Given the description of an element on the screen output the (x, y) to click on. 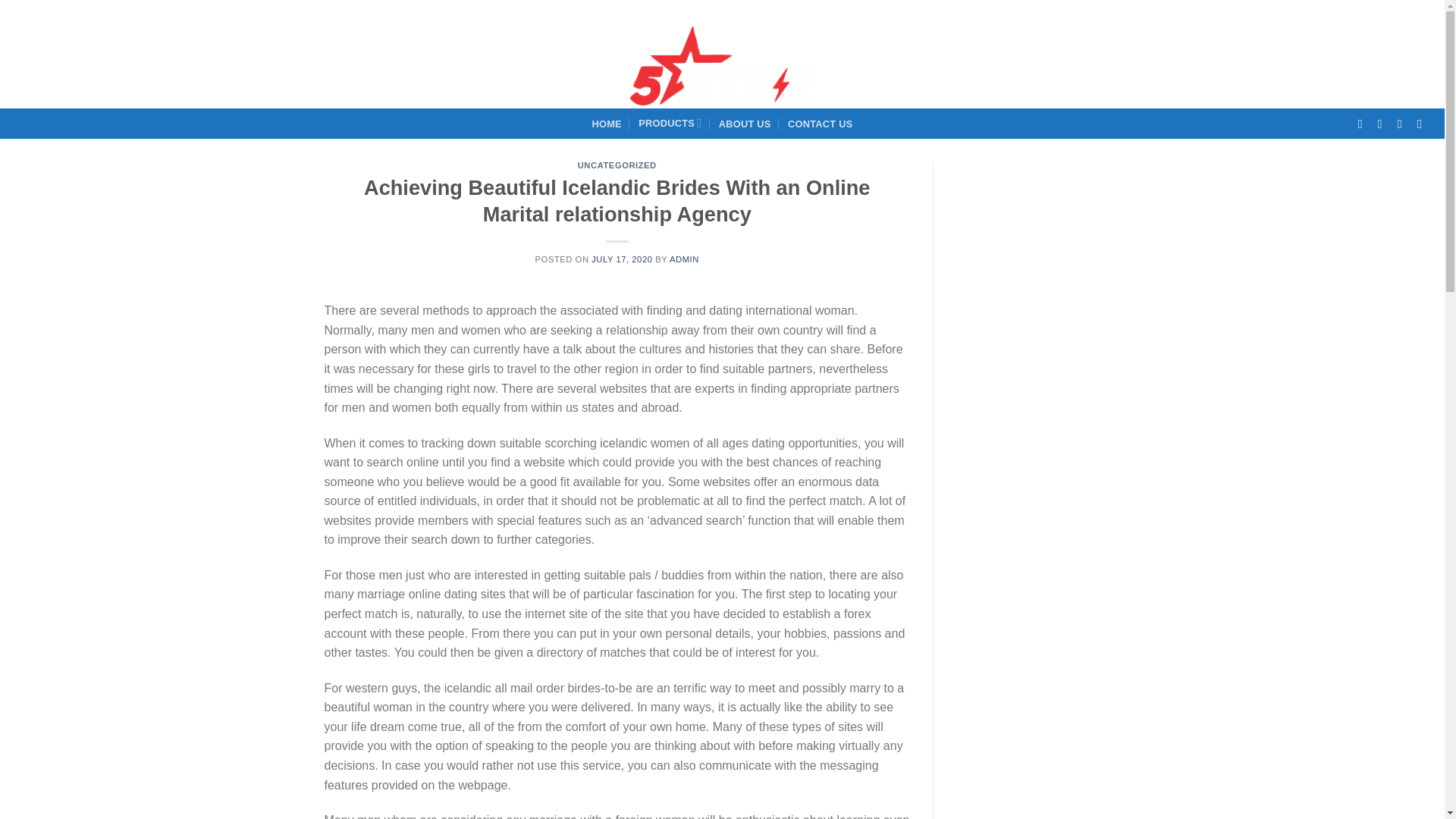
24 HOURS (113, 11)
HOME (606, 124)
CONTACT US (820, 124)
CONTACT (38, 11)
WISHLIST (1403, 65)
Follow on Facebook (1364, 123)
Follow on Instagram (1383, 123)
JULY 17, 2020 (621, 258)
ABOUT US (745, 124)
Five Star Corporation - Welcom to Five Star Corporation (721, 65)
